Given the description of an element on the screen output the (x, y) to click on. 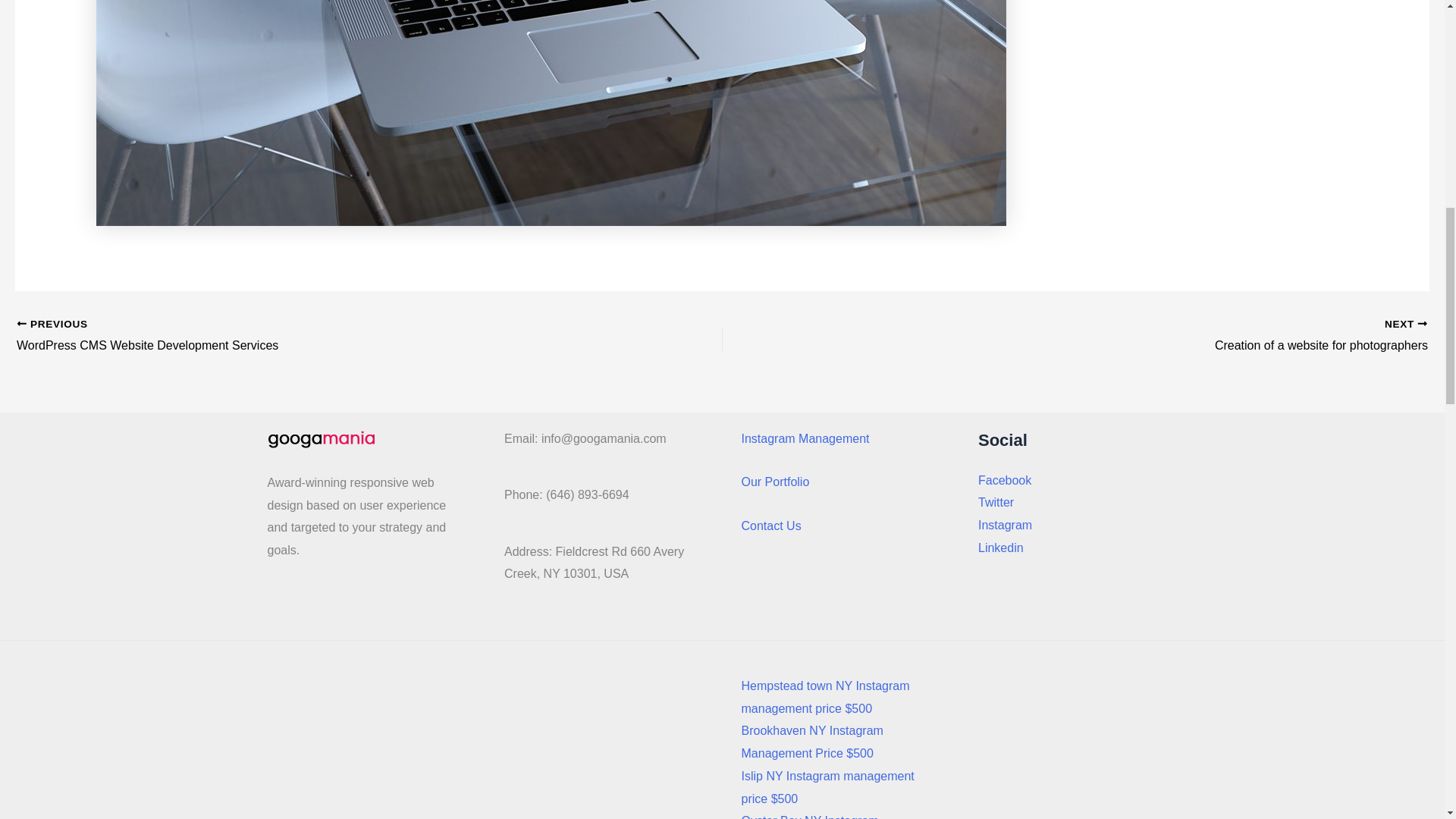
WordPress CMS Website Development Services (299, 336)
Creation of a website for photographers (1251, 336)
